Given the description of an element on the screen output the (x, y) to click on. 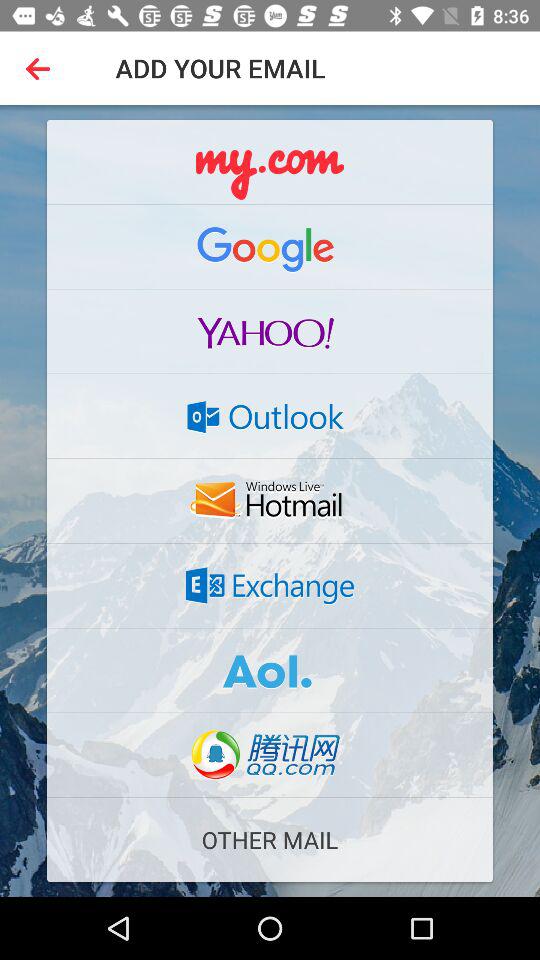
scroll until the other mail (269, 839)
